Given the description of an element on the screen output the (x, y) to click on. 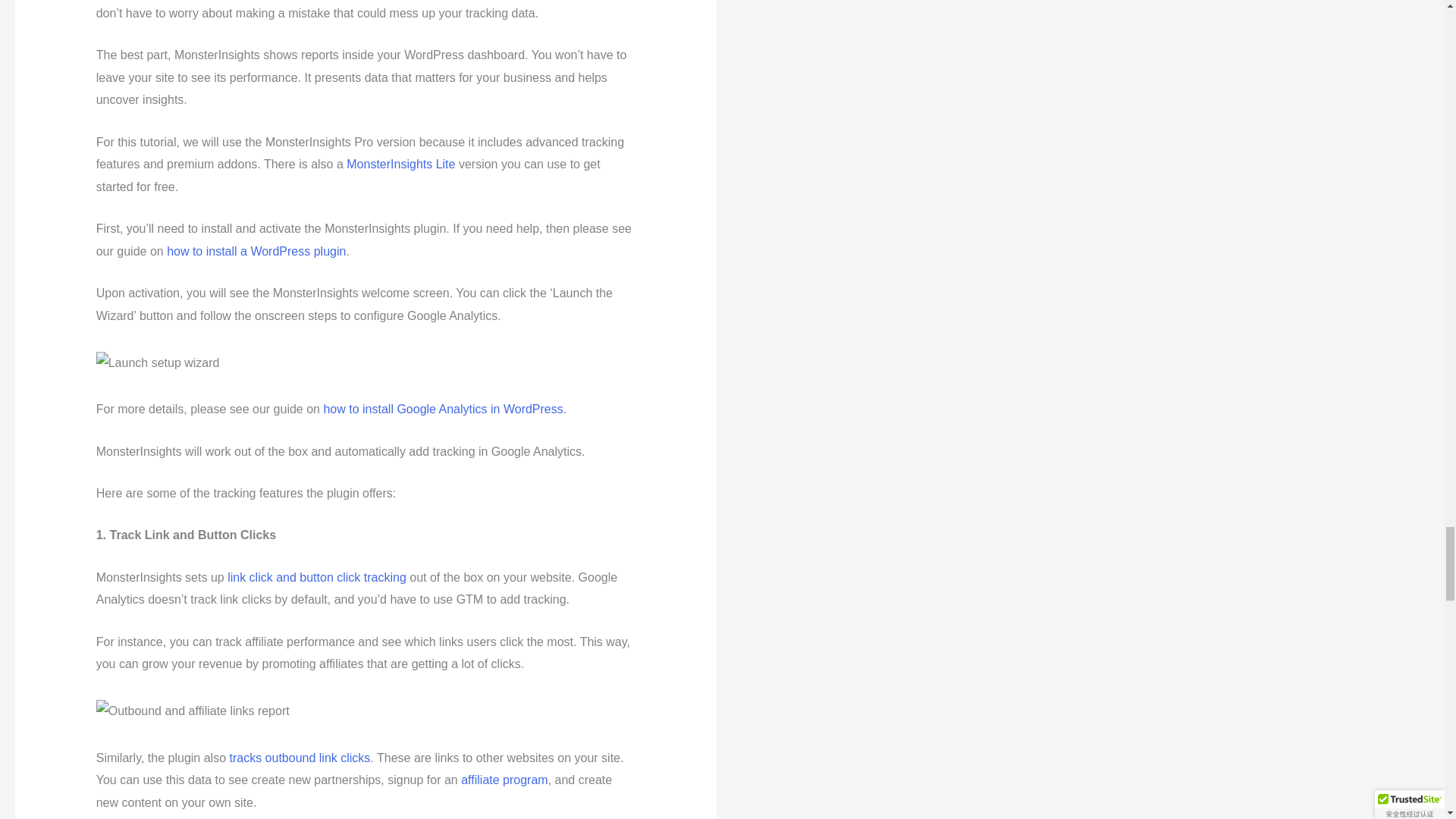
How to Track Outbound Links in WordPress (298, 757)
Free version of MonsterInsights Google Analytics Plugin (400, 164)
How to Install Google Analytics in WordPress for Beginners (442, 408)
